Given the description of an element on the screen output the (x, y) to click on. 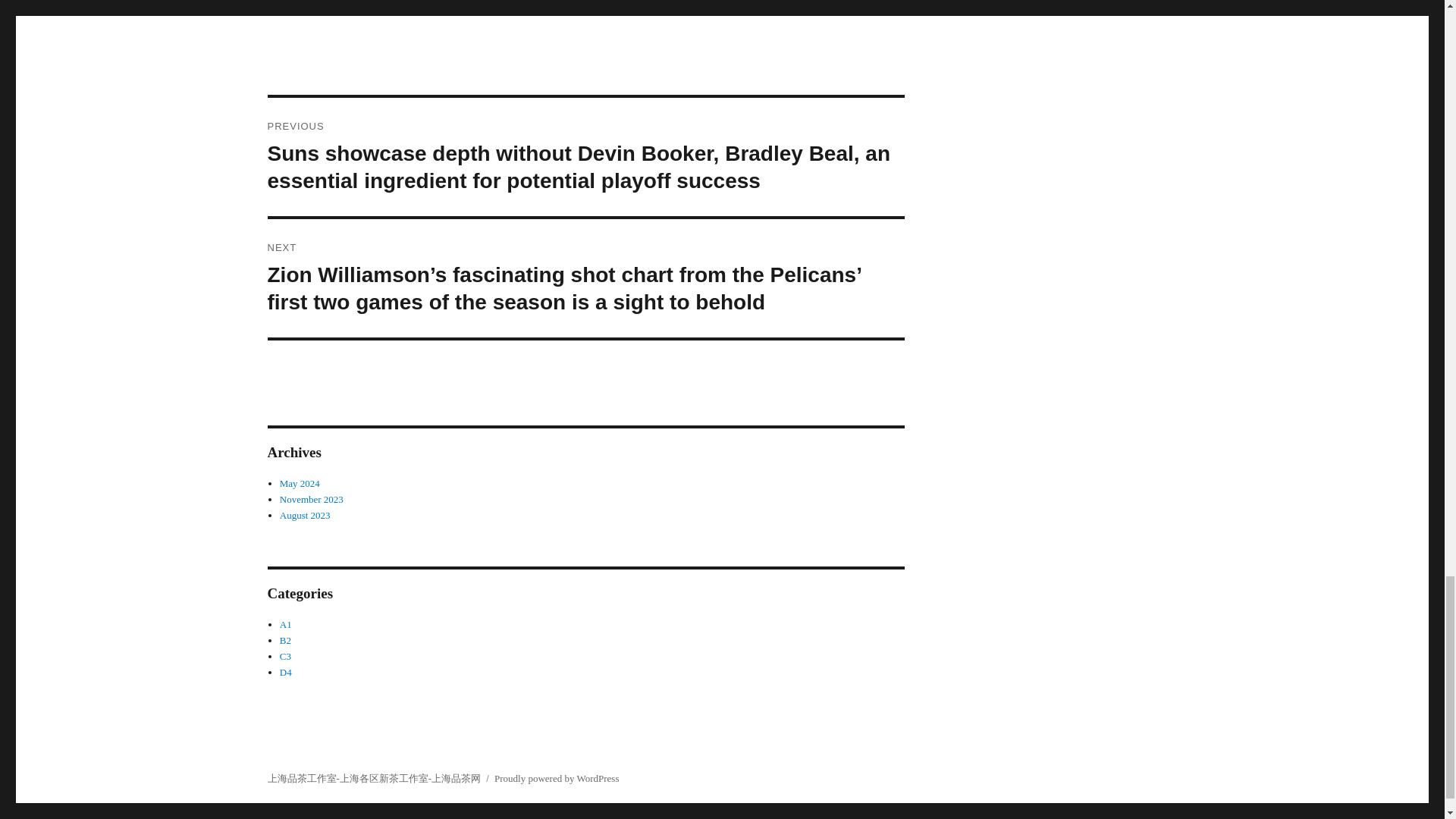
C3 (285, 655)
August 2023 (304, 514)
D4 (285, 672)
May 2024 (299, 482)
Post Comment (330, 4)
B2 (285, 640)
Post Comment (330, 4)
A1 (285, 624)
November 2023 (311, 499)
Proudly powered by WordPress (556, 778)
